Given the description of an element on the screen output the (x, y) to click on. 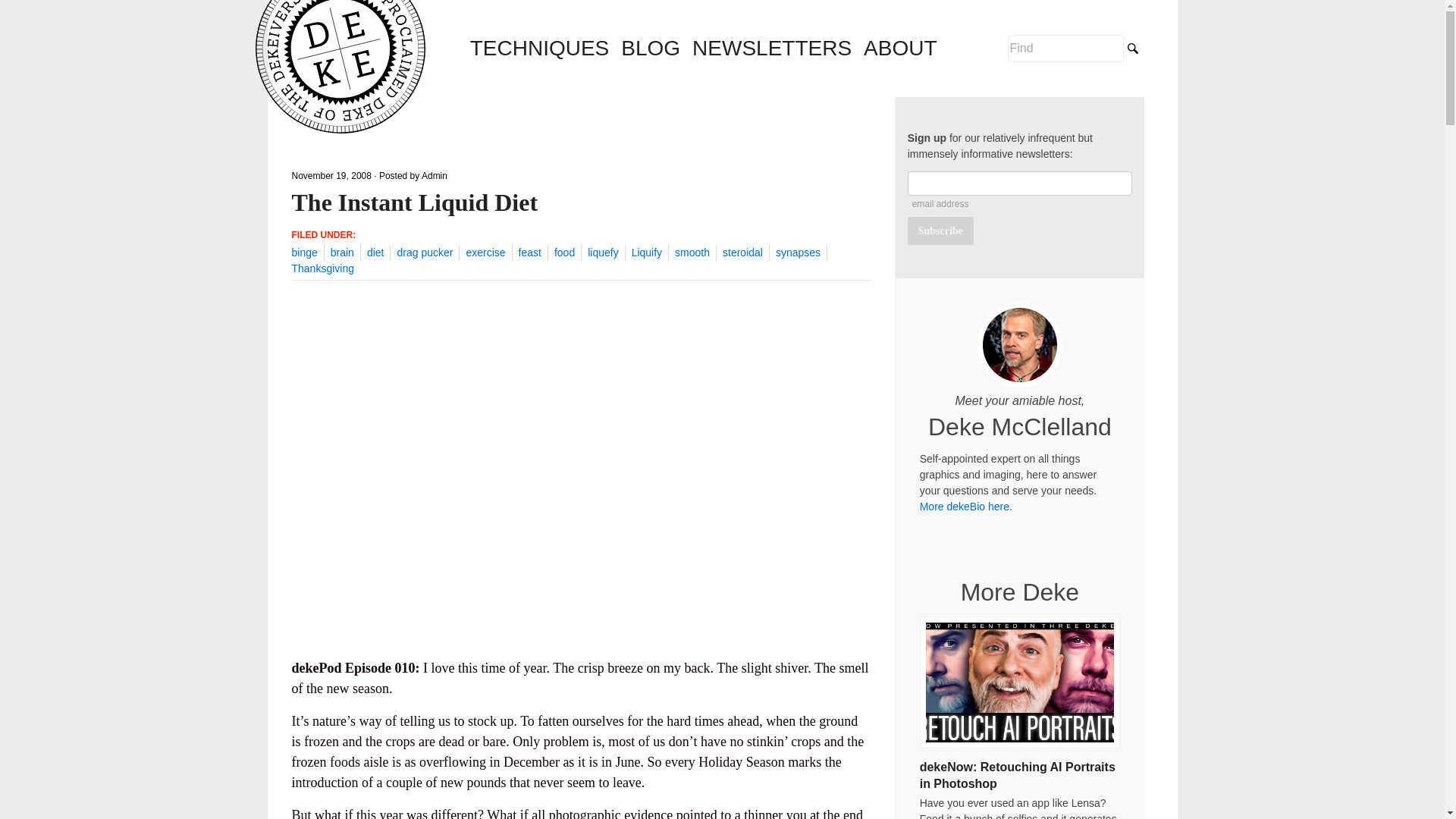
Liquify (646, 252)
exercise (485, 252)
diet (375, 252)
brain (341, 252)
smooth (692, 252)
steroidal (742, 252)
Thanksgiving (322, 268)
The Instant Liquid Diet (414, 202)
food (564, 252)
